Given the description of an element on the screen output the (x, y) to click on. 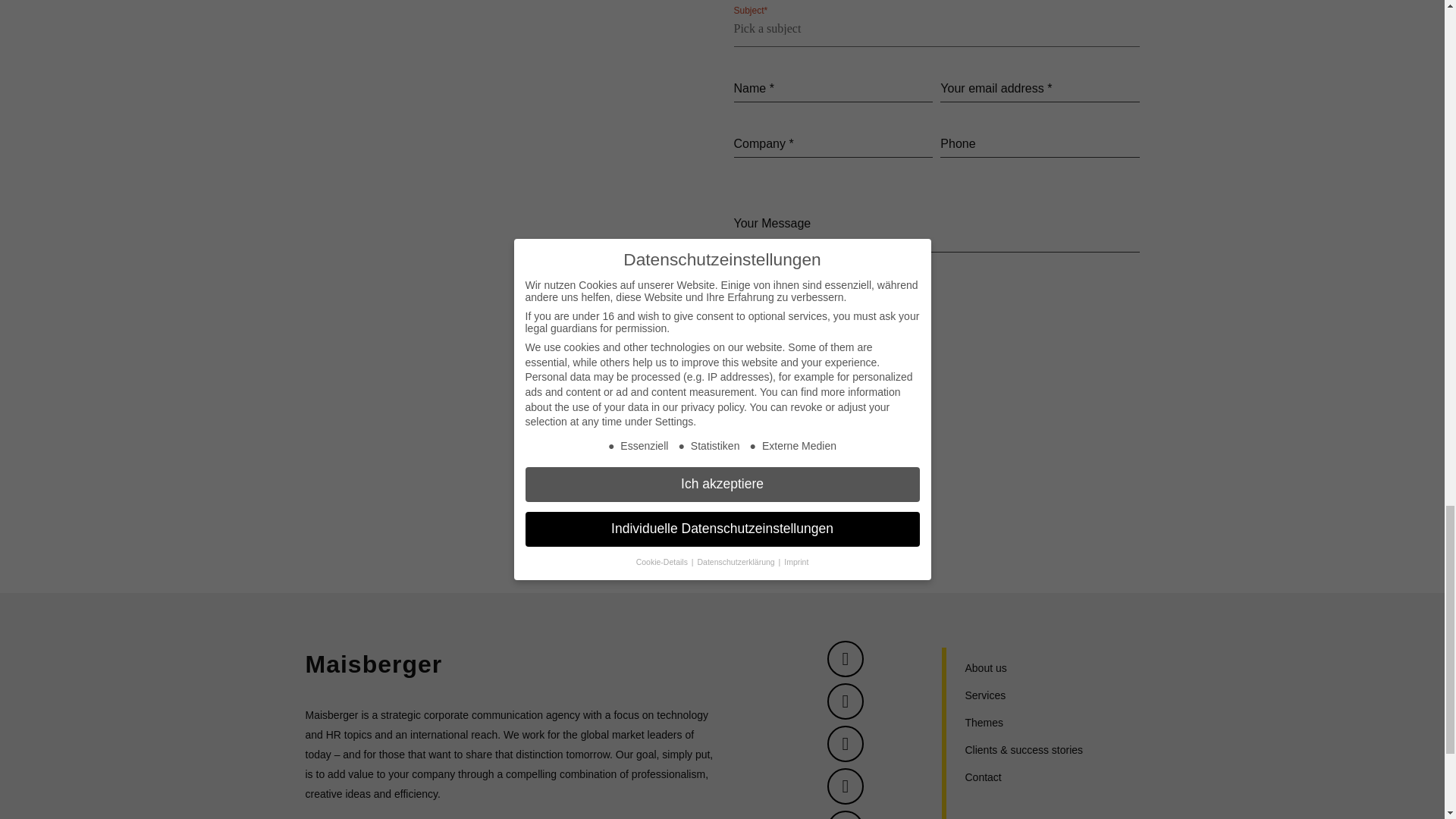
Send (766, 386)
Privacy Policy (841, 319)
Send (766, 386)
